Given the description of an element on the screen output the (x, y) to click on. 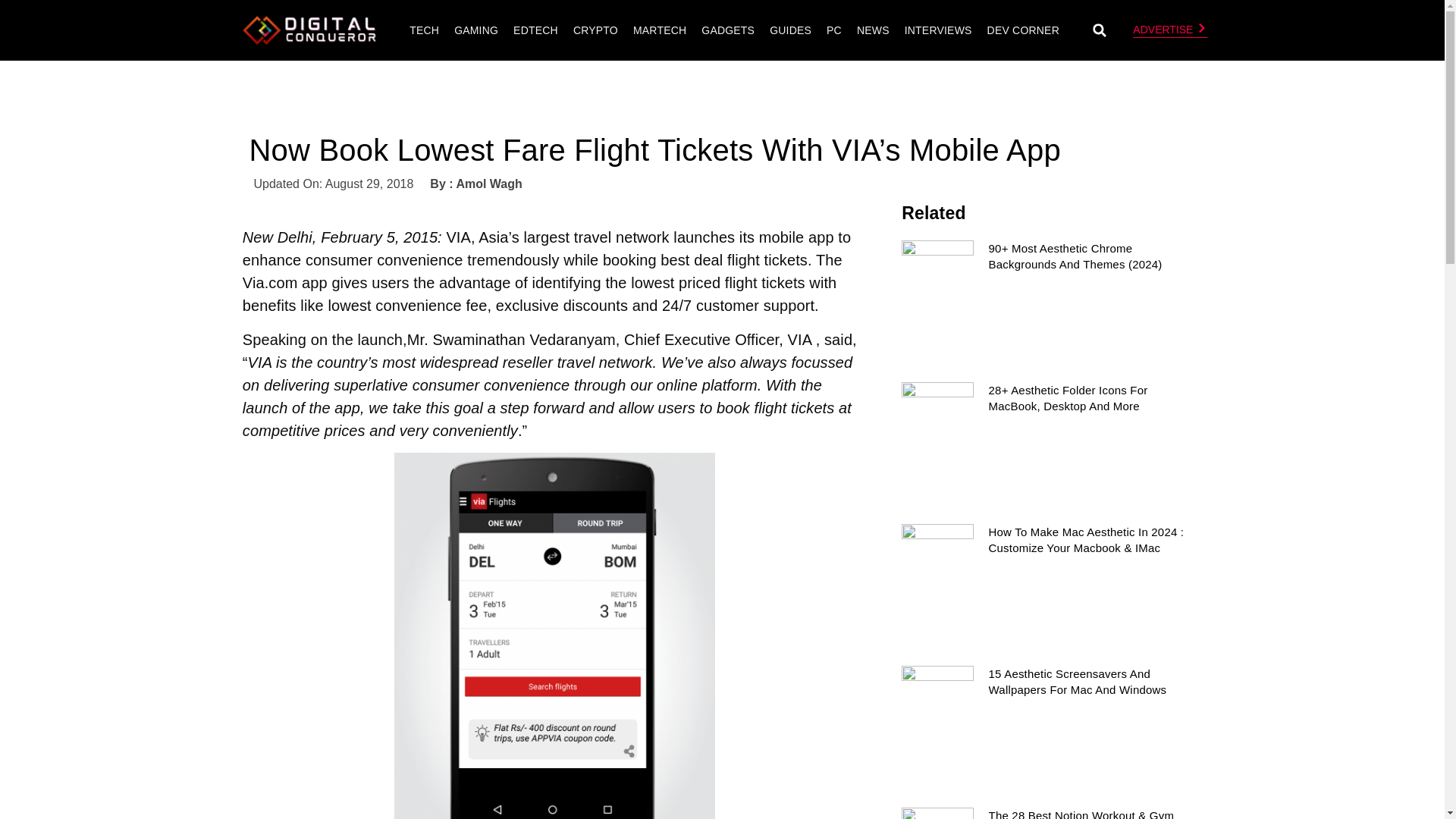
EDTECH (535, 30)
DEV CORNER (1022, 30)
GADGETS (727, 30)
NEWS (873, 30)
MARTECH (659, 30)
GAMING (475, 30)
TECH (424, 30)
CRYPTO (595, 30)
GUIDES (790, 30)
INTERVIEWS (938, 30)
